Given the description of an element on the screen output the (x, y) to click on. 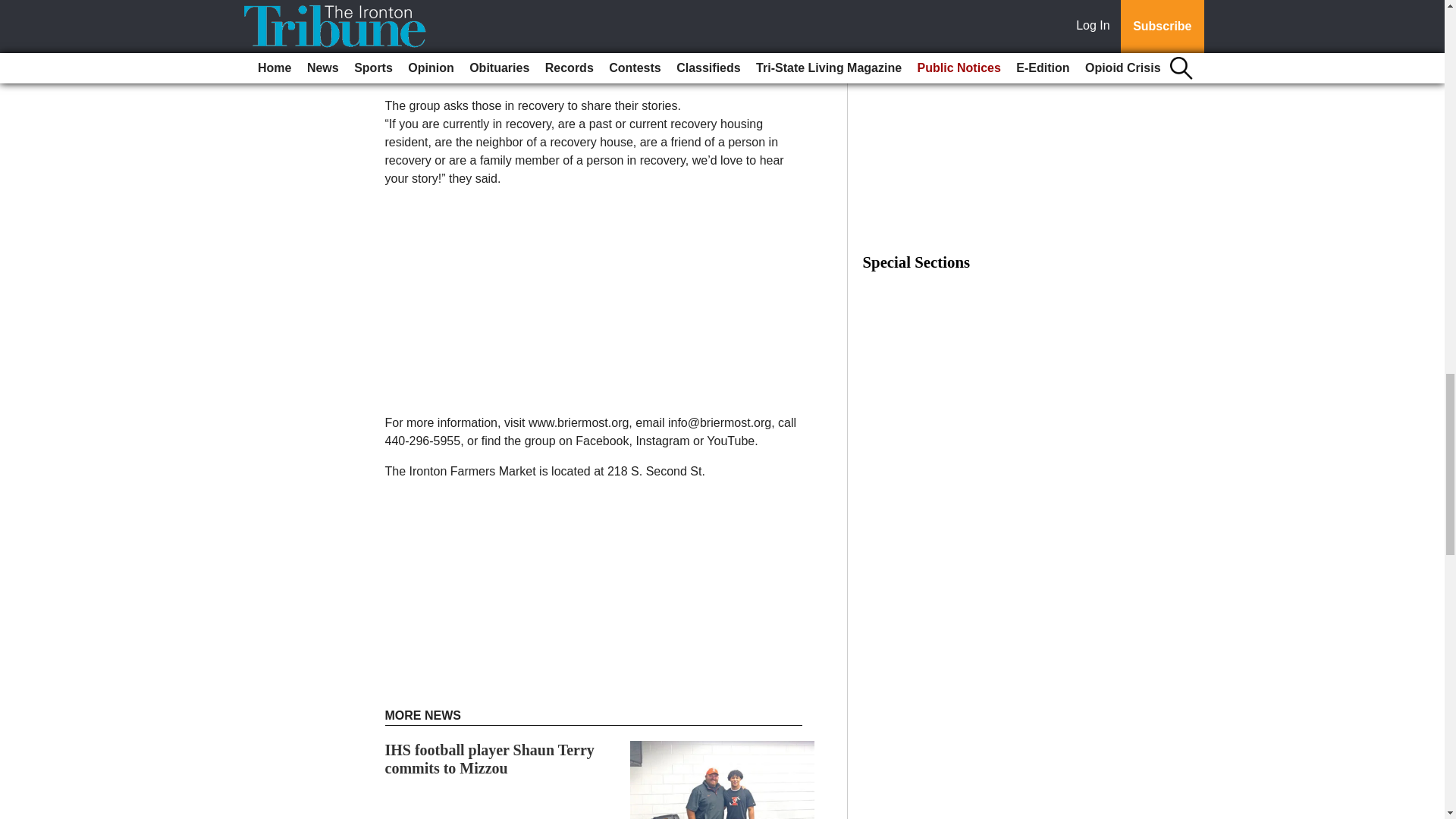
IHS football player Shaun Terry commits to Mizzou (489, 759)
IHS football player Shaun Terry commits to Mizzou (489, 759)
